Given the description of an element on the screen output the (x, y) to click on. 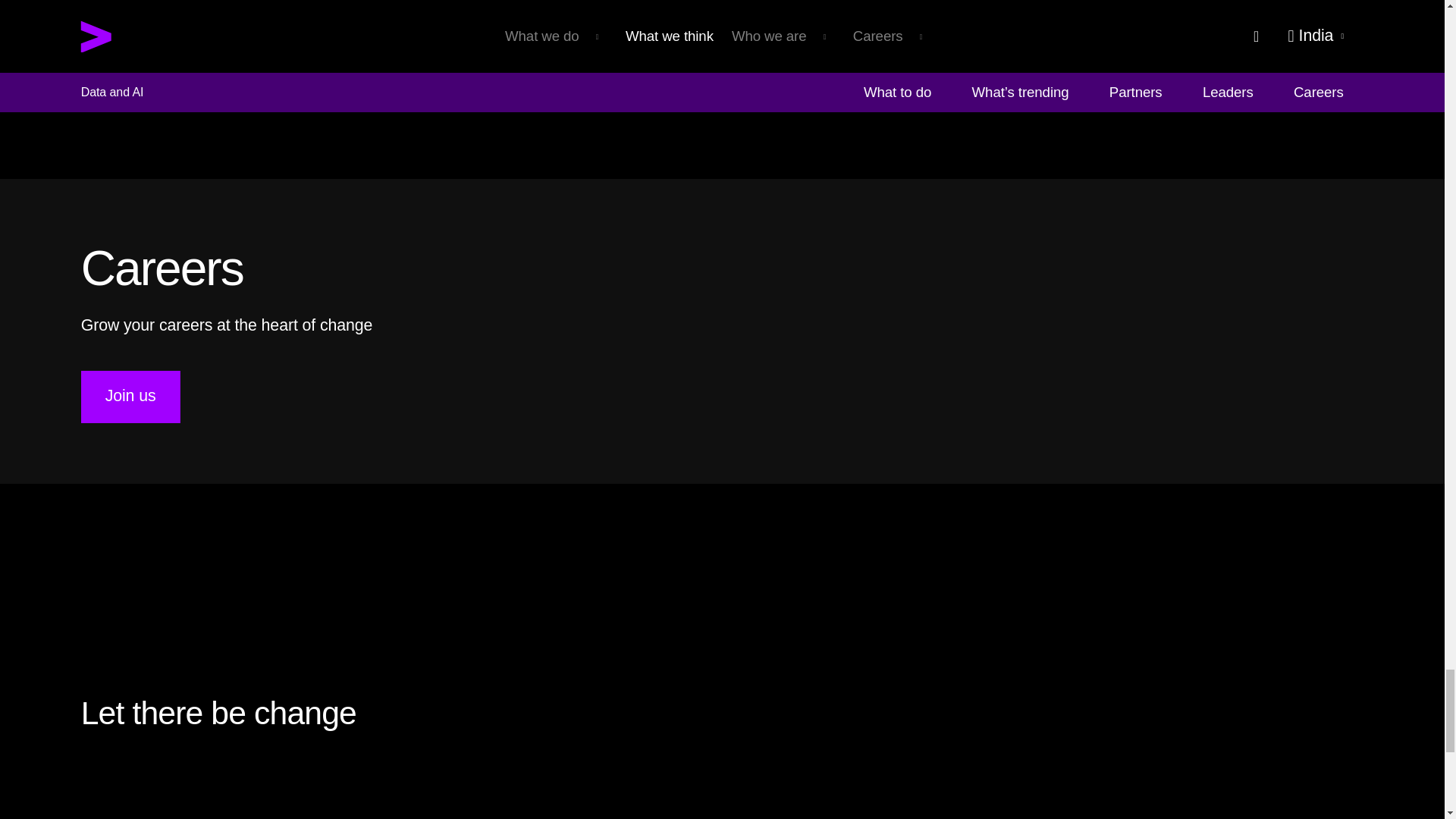
Connect with Lan Guan on LinkedIn. This opens a new window (673, 49)
